Given the description of an element on the screen output the (x, y) to click on. 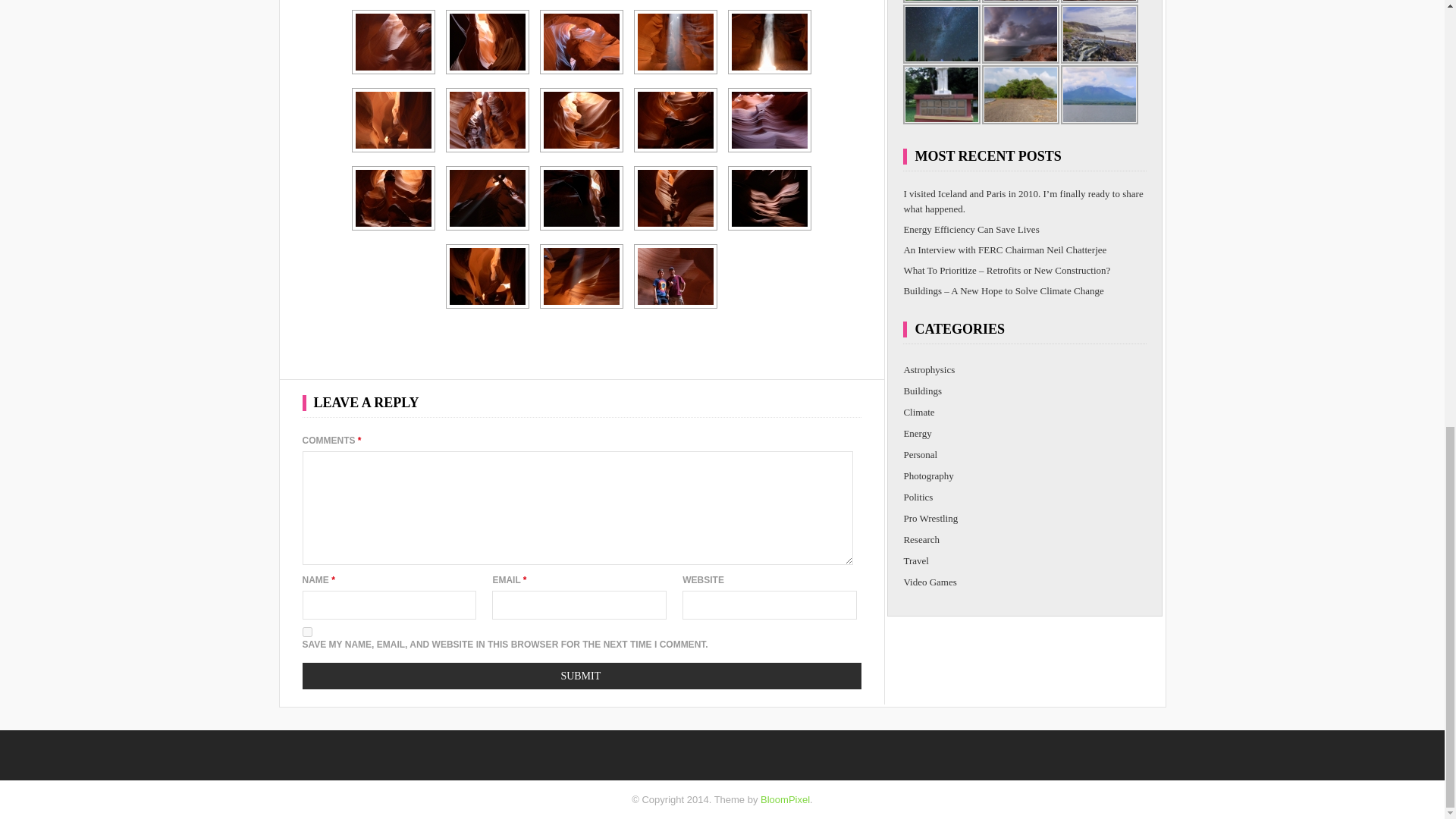
yes (306, 632)
Submit  (581, 675)
